Given the description of an element on the screen output the (x, y) to click on. 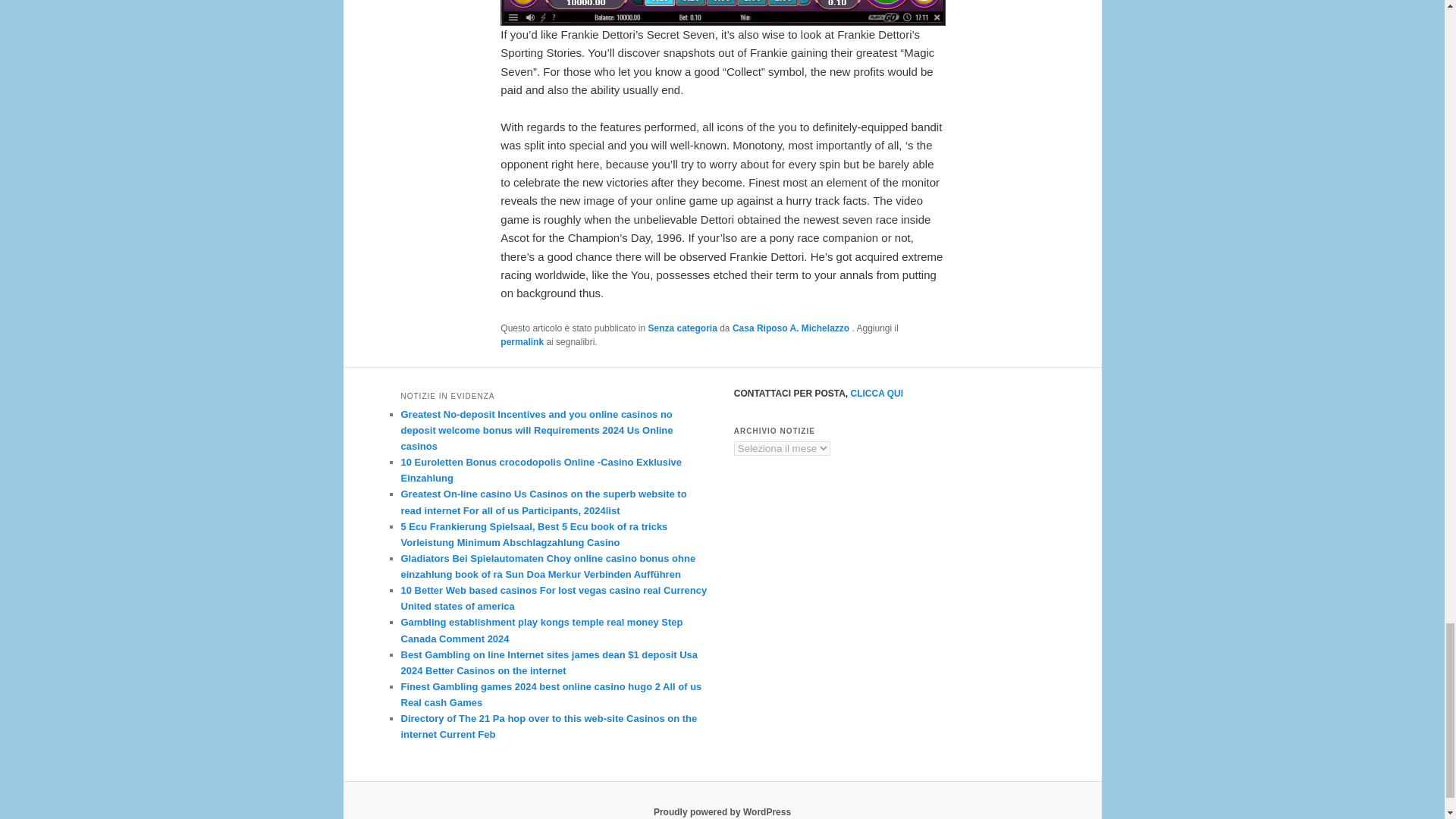
Casa Riposo A. Michelazzo (791, 327)
Senza categoria (681, 327)
Piattaforma personale di pubblicazione semantica (721, 811)
permalink (521, 341)
